Given the description of an element on the screen output the (x, y) to click on. 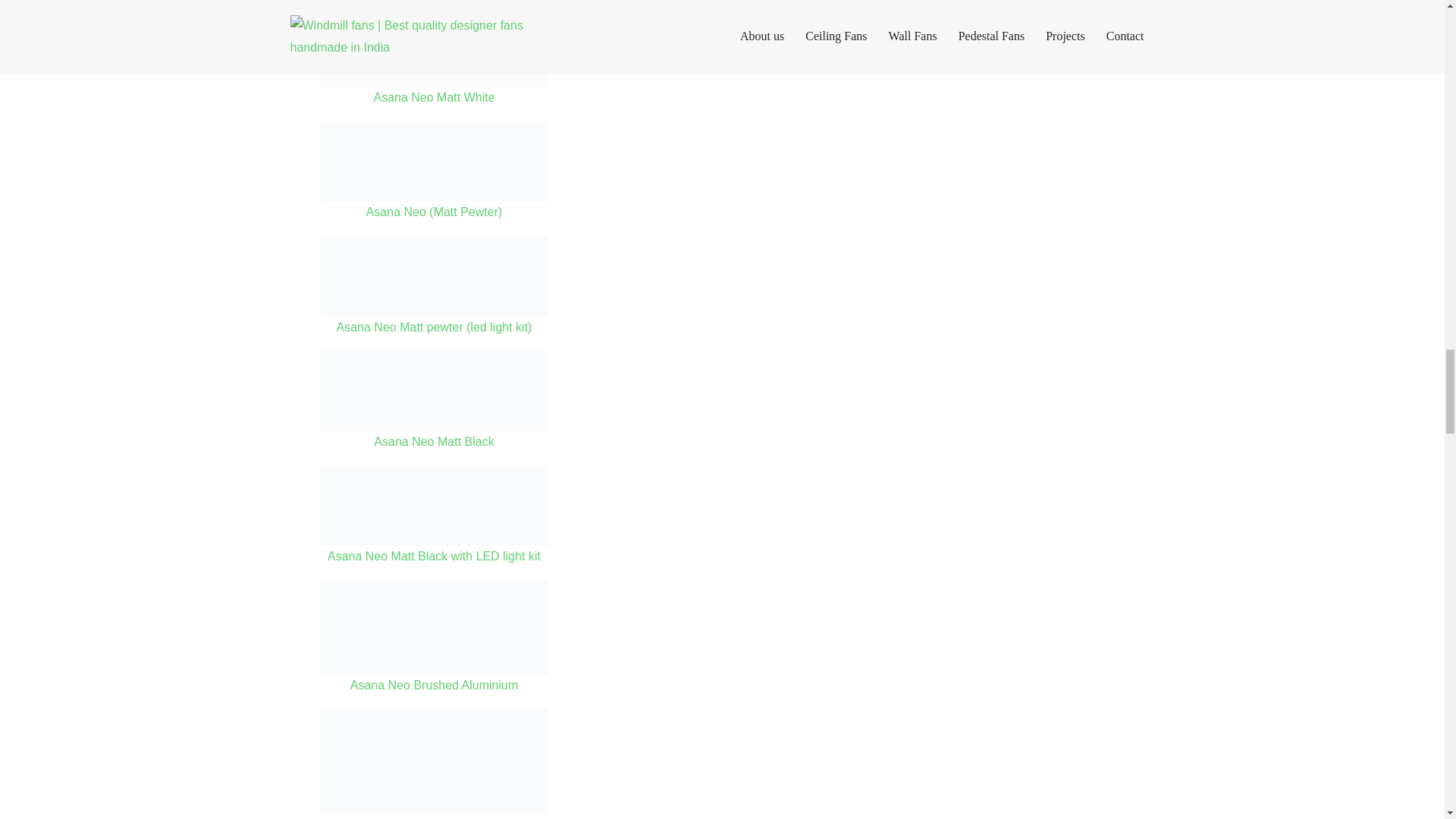
Asana Neo Brushed Aluminium (433, 637)
Asana Neo Matt Black with LED light kit (433, 517)
Asana Neo Matt White (433, 54)
Asana Neo Matt Black (433, 401)
